Given the description of an element on the screen output the (x, y) to click on. 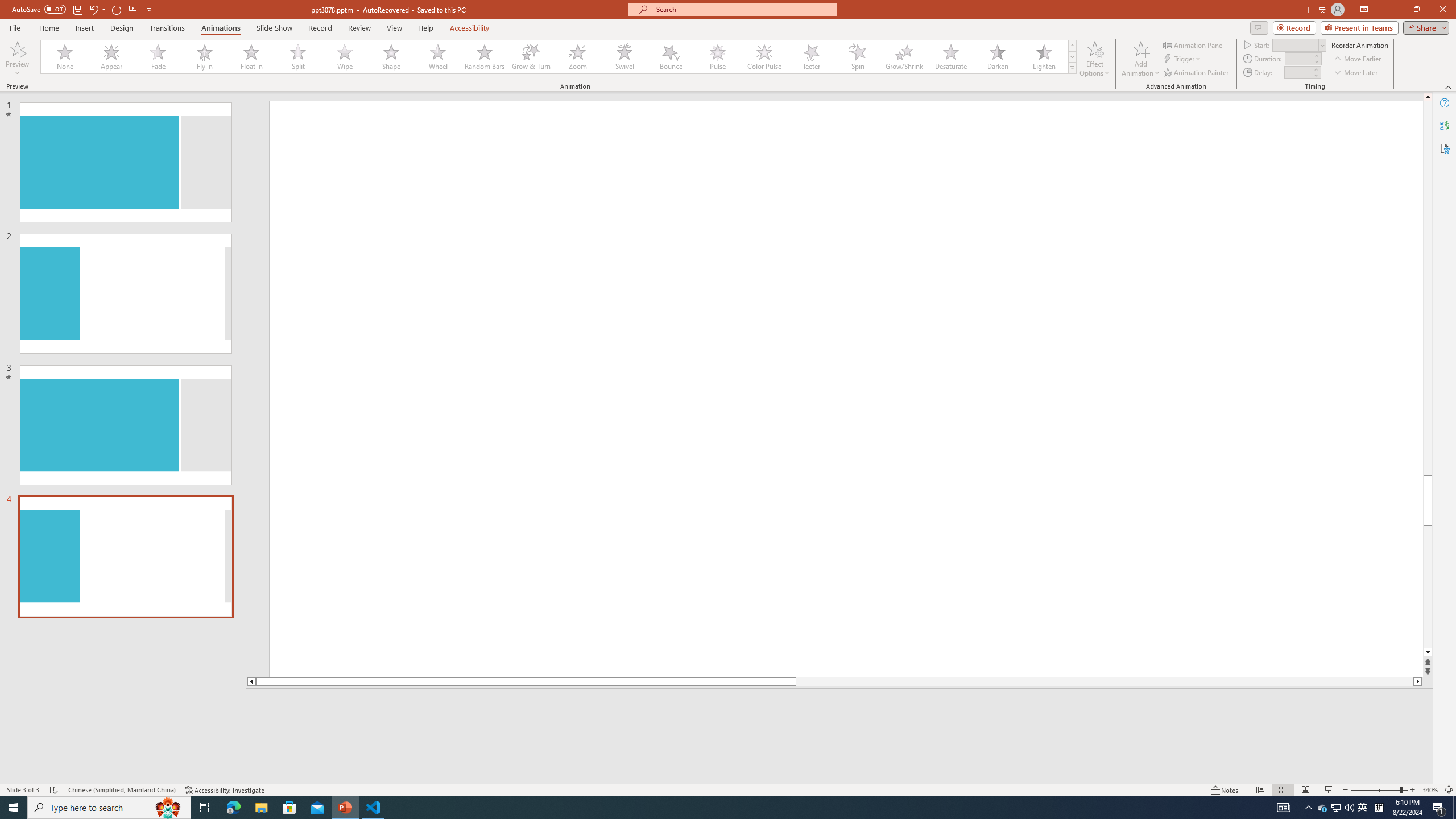
Effect Options (1094, 58)
Animation Painter (1196, 72)
Spin (857, 56)
